Given the description of an element on the screen output the (x, y) to click on. 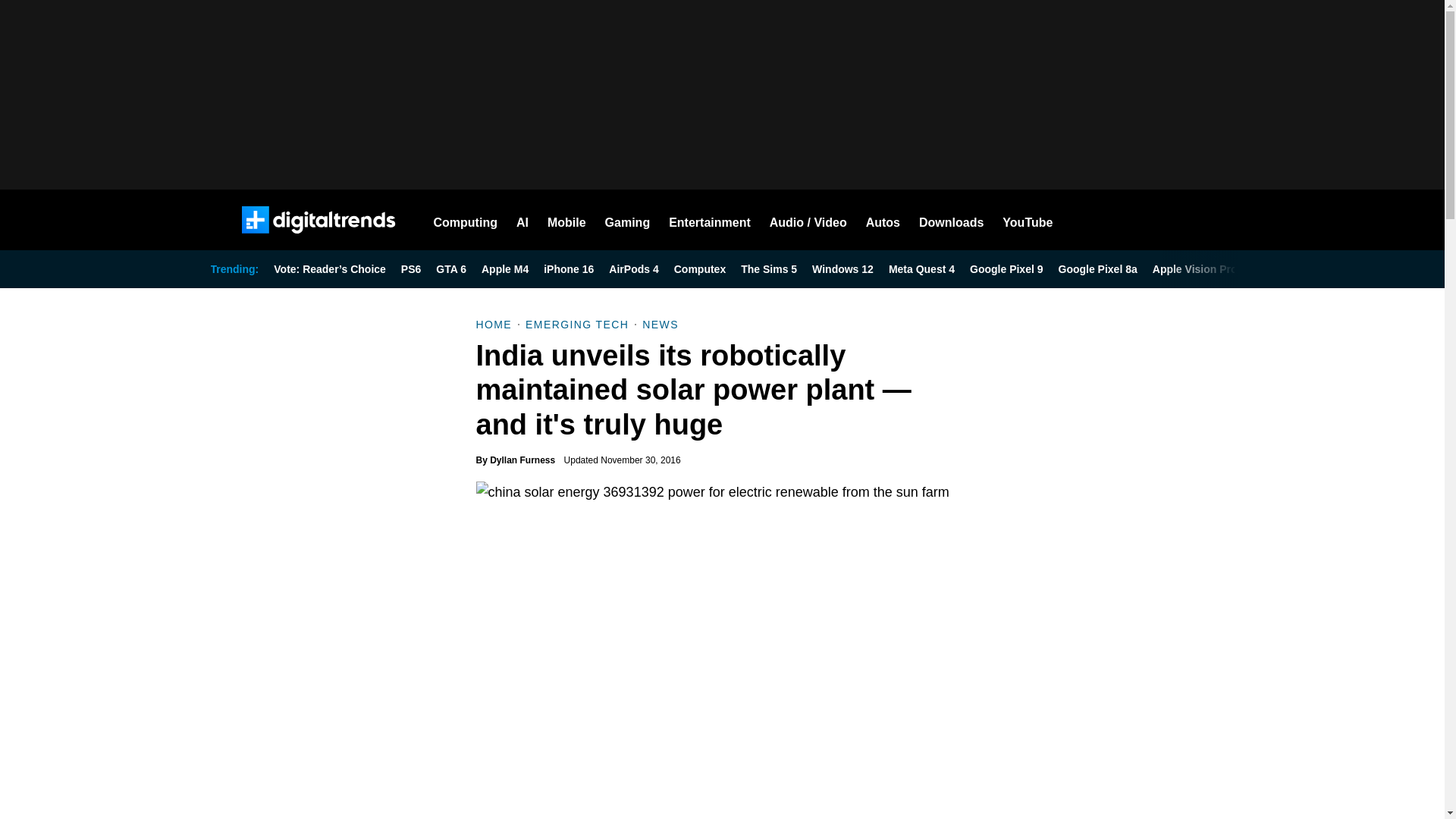
Entertainment (709, 219)
Computing (465, 219)
Downloads (951, 219)
